Given the description of an element on the screen output the (x, y) to click on. 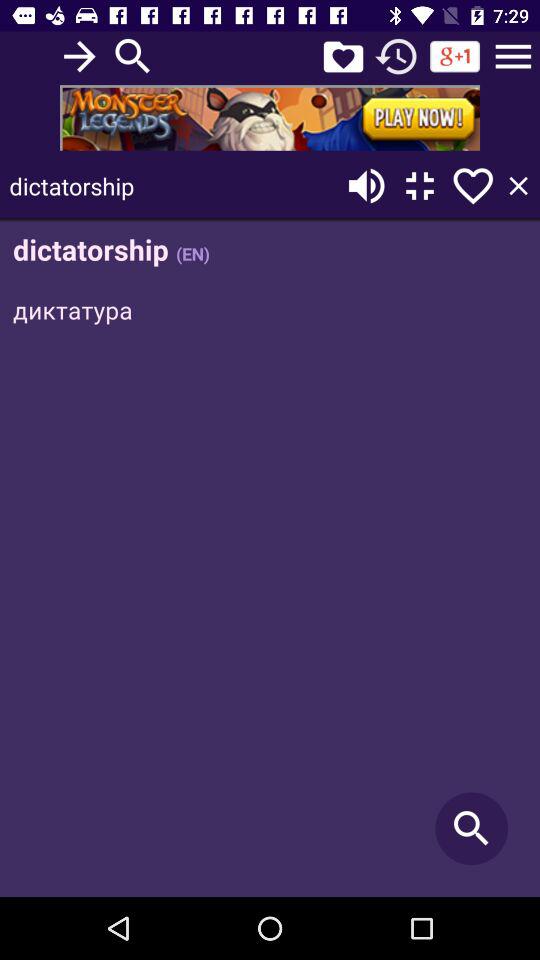
new advertisement open box (270, 117)
